Given the description of an element on the screen output the (x, y) to click on. 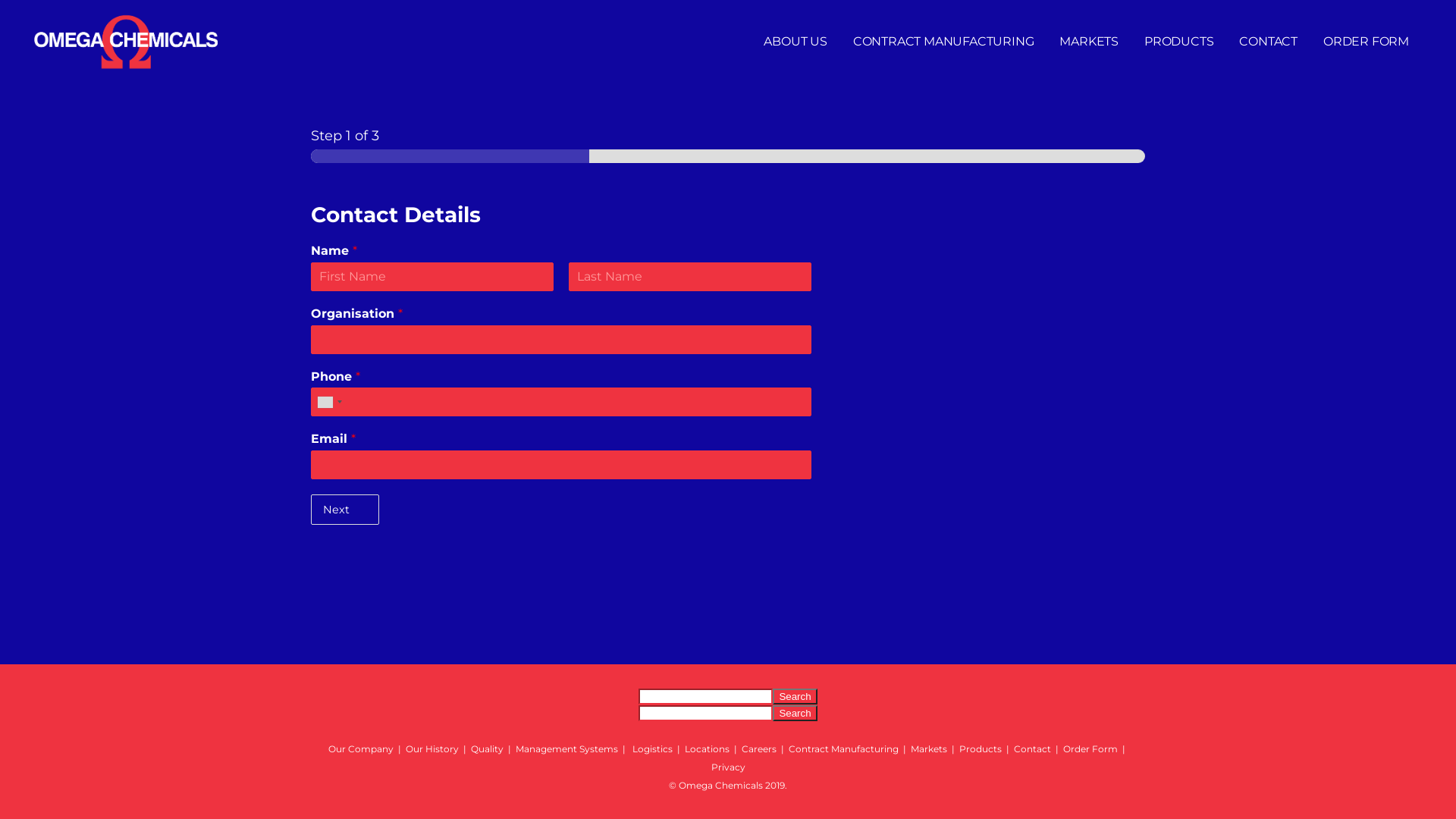
CONTRACT MANUFACTURING Element type: text (943, 41)
Locations Element type: text (706, 748)
Search Element type: text (794, 713)
Products Element type: text (980, 748)
ABOUT US Element type: text (794, 41)
Search Element type: text (794, 696)
Contract Manufacturing Element type: text (843, 748)
Privacy Element type: text (728, 766)
Order Form Element type: text (1090, 748)
Management Systems Element type: text (566, 748)
ORDER FORM Element type: text (1365, 41)
CONTACT Element type: text (1268, 41)
Our History Element type: text (431, 748)
Next Element type: text (344, 509)
Contact Element type: text (1032, 748)
MARKETS Element type: text (1088, 41)
Our Company Element type: text (360, 748)
Markets Element type: text (928, 748)
Logistics Element type: text (652, 748)
PRODUCTS Element type: text (1178, 41)
Careers Element type: text (758, 748)
Quality Element type: text (486, 748)
